Given the description of an element on the screen output the (x, y) to click on. 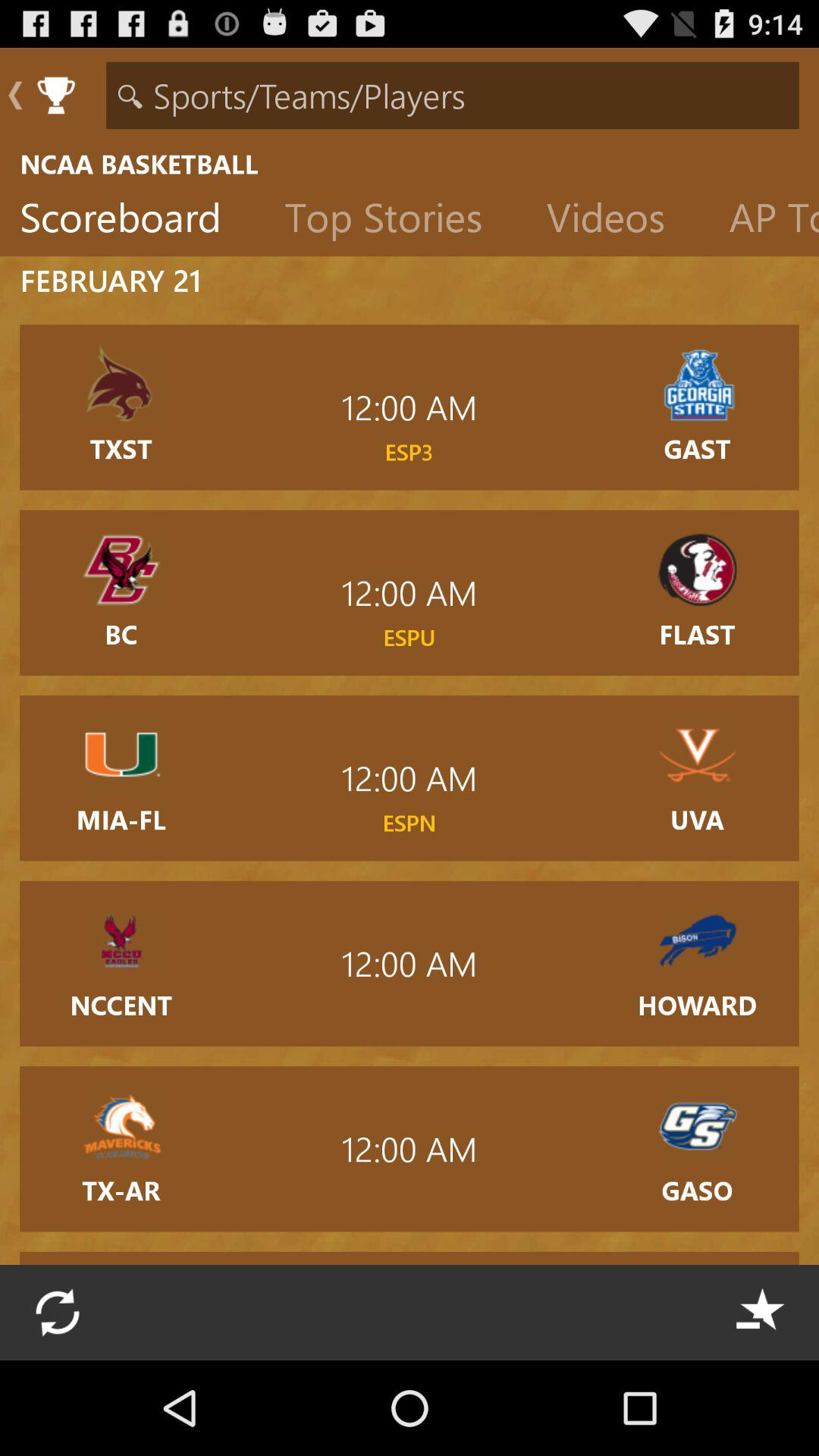
open item to the left of the ap top 25 item (617, 220)
